Given the description of an element on the screen output the (x, y) to click on. 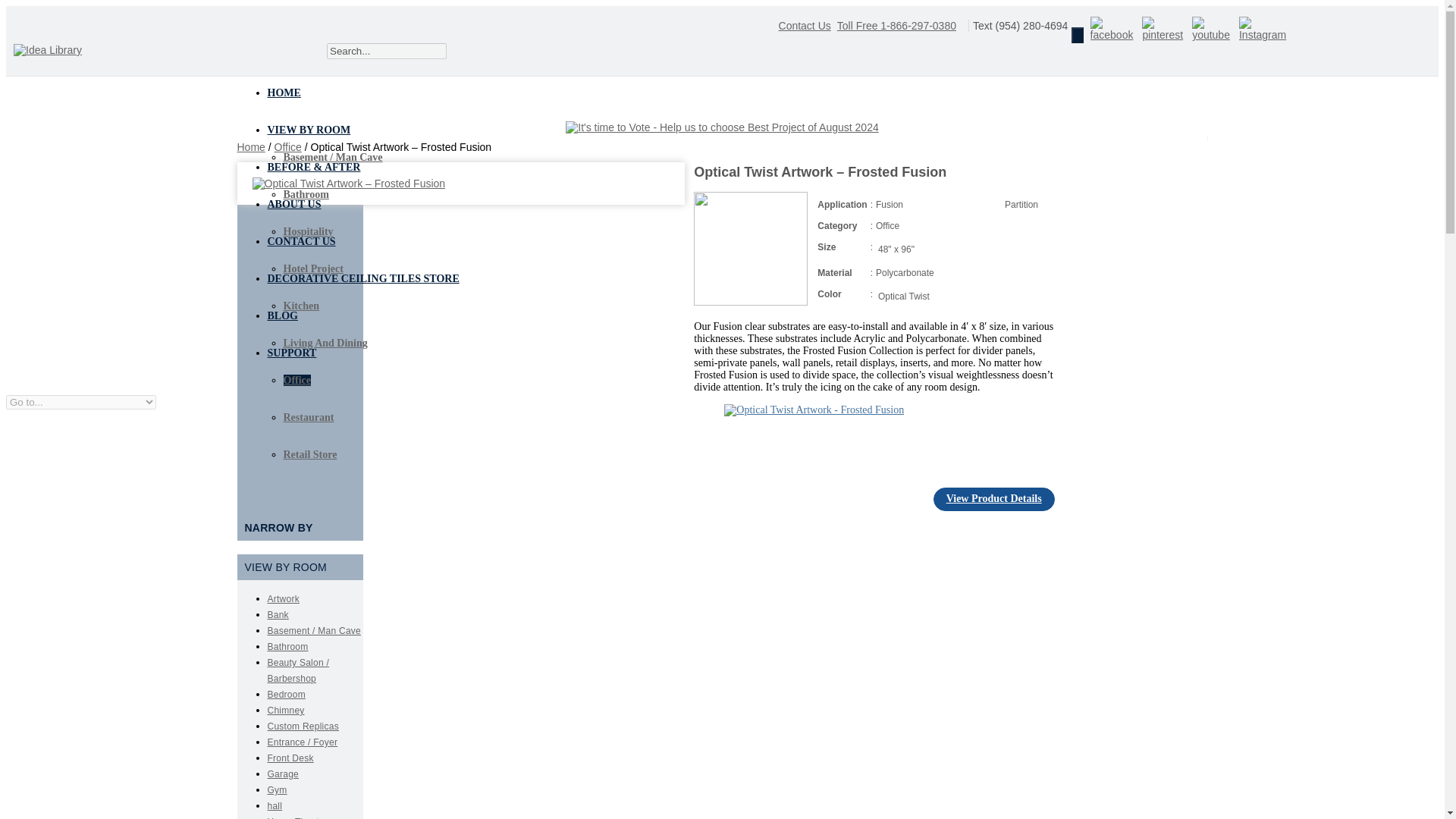
Kitchen (300, 306)
Bathroom (306, 194)
Hospitality (308, 231)
Restaurant (308, 417)
DECORATIVE CEILING TILES STORE (362, 278)
HOME (282, 92)
VIEW BY ROOM (308, 129)
Hotel Project (313, 268)
CONTACT US (300, 240)
